Given the description of an element on the screen output the (x, y) to click on. 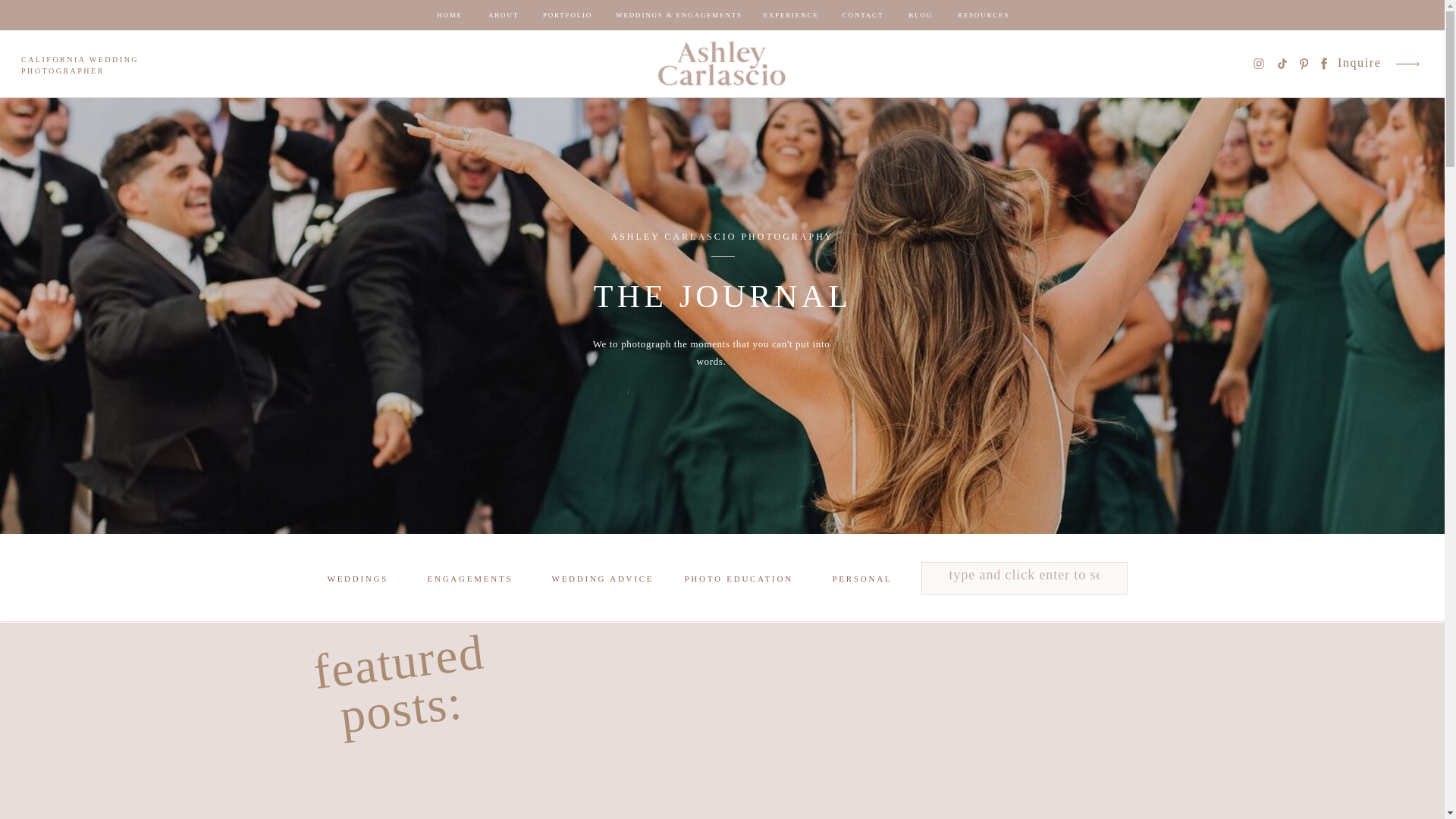
PERSONAL (868, 580)
arrow (1407, 63)
arrow (1407, 63)
CALIFORNIA WEDDING PHOTOGRAPHER (91, 67)
ABOUT (503, 15)
EXPERIENCE (790, 15)
WEDDINGS (357, 580)
WEDDING ADVICE (605, 580)
CONTACT (863, 15)
ENGAGEMENTS (473, 580)
HOME (448, 15)
BLOG (920, 15)
PORTFOLIO (567, 15)
RESOURCES (982, 15)
PHOTO EDUCATION (740, 580)
